Given the description of an element on the screen output the (x, y) to click on. 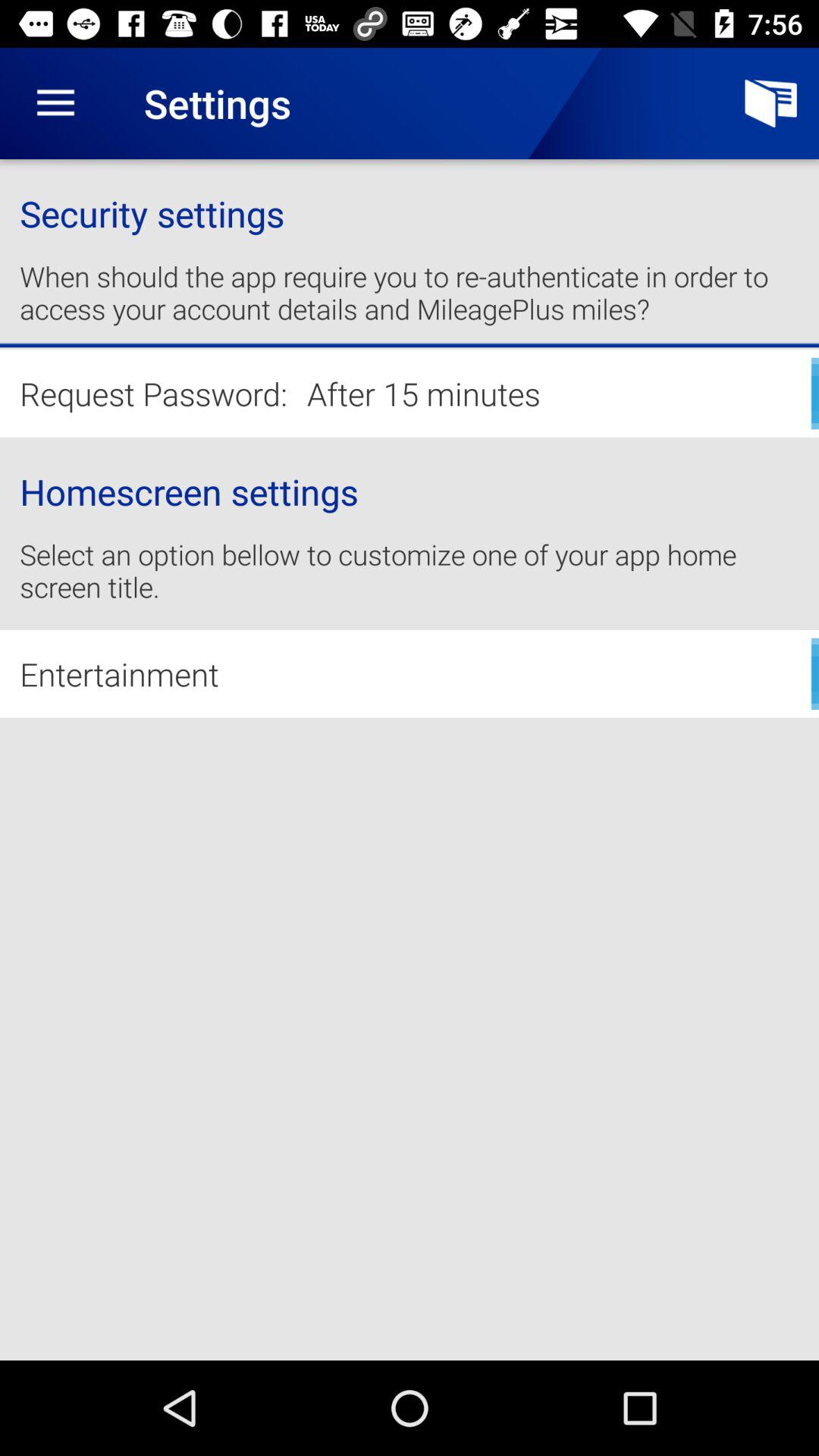
press the icon below the select an option item (409, 673)
